Given the description of an element on the screen output the (x, y) to click on. 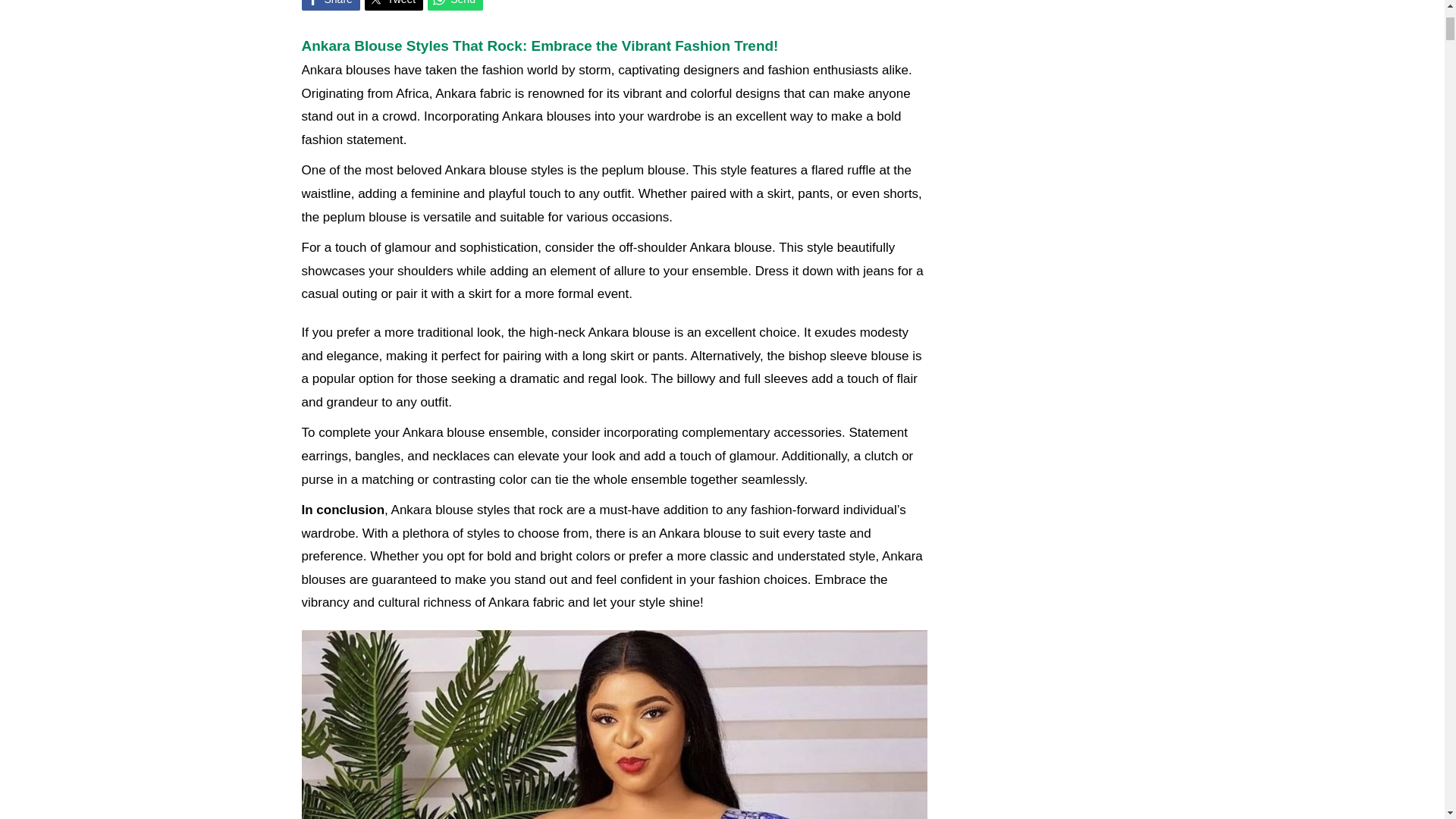
Share on Facebook (330, 5)
Share (330, 5)
Send (455, 5)
Share on Whatsapp (455, 5)
Share on Twitter (394, 5)
Tweet (394, 5)
